Given the description of an element on the screen output the (x, y) to click on. 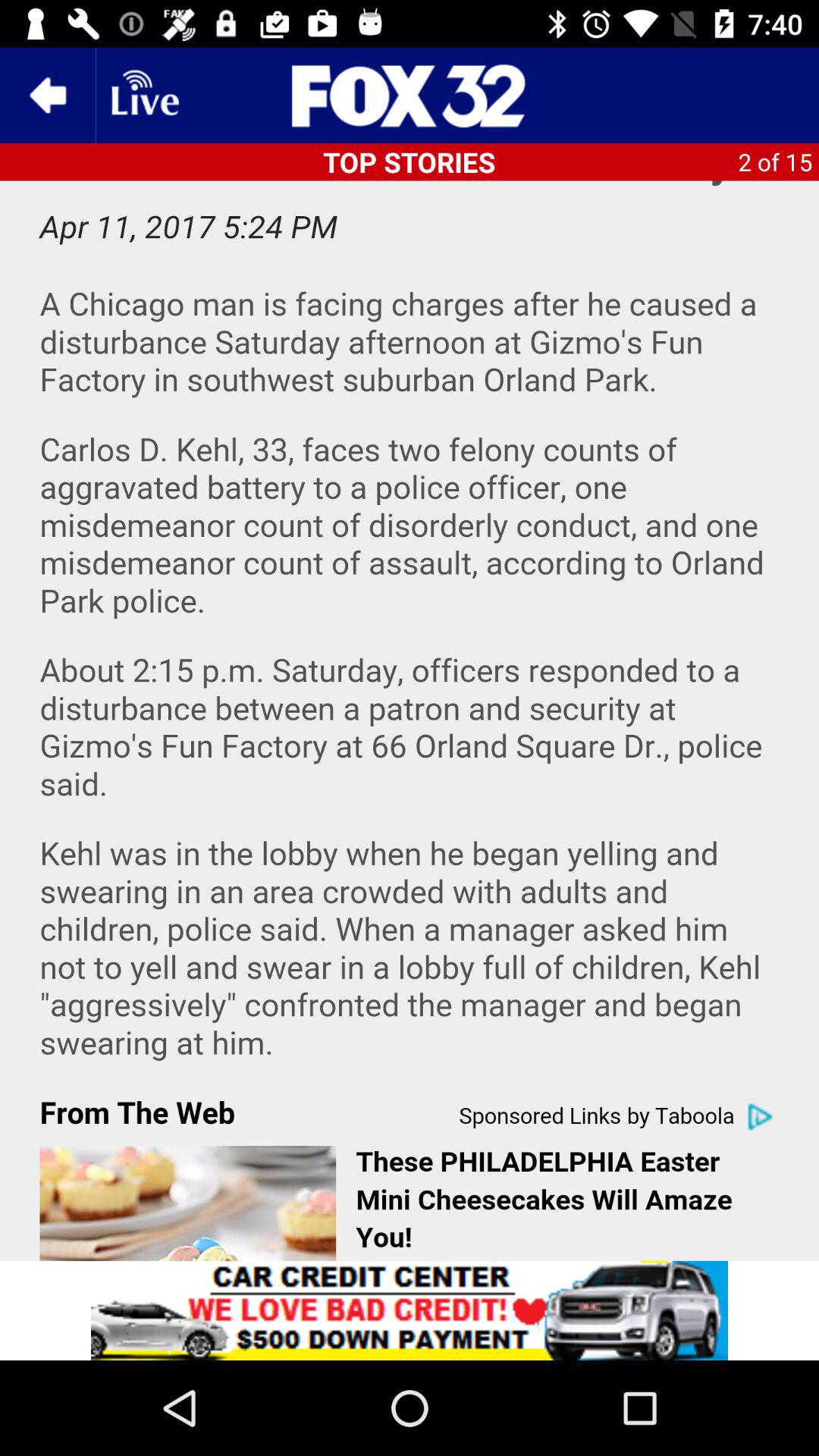
go back (47, 95)
